Given the description of an element on the screen output the (x, y) to click on. 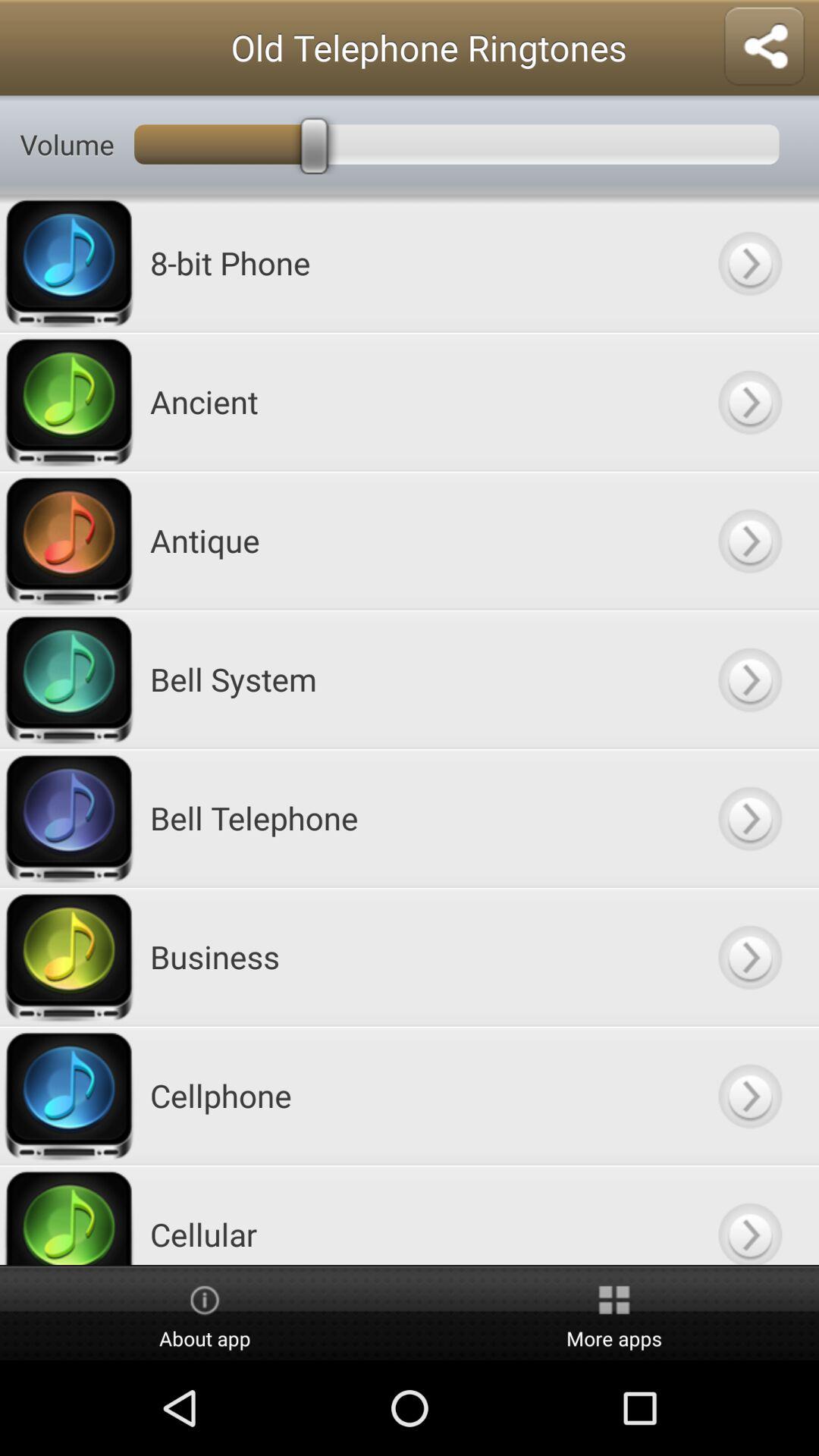
play symbol (749, 540)
